Given the description of an element on the screen output the (x, y) to click on. 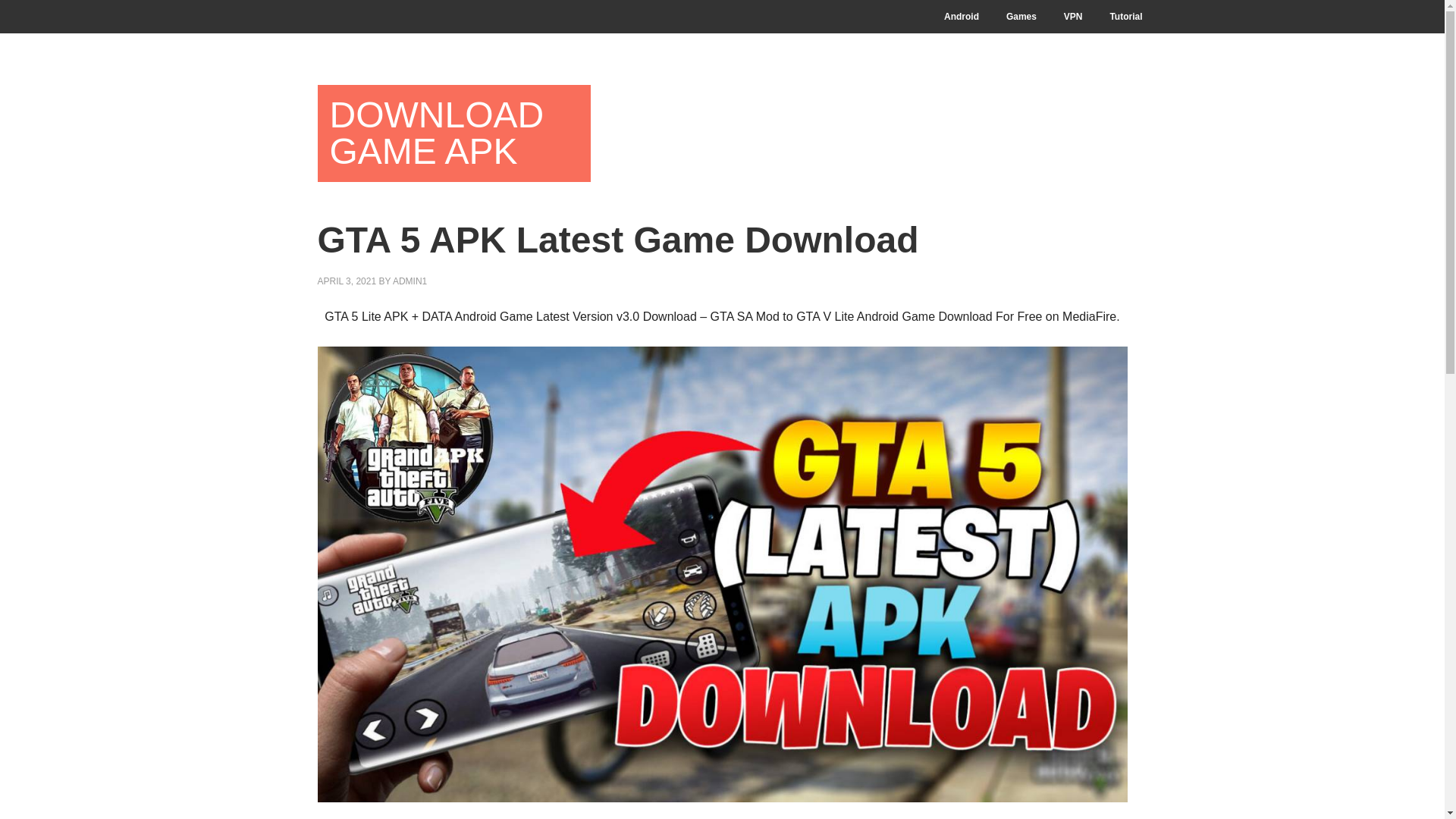
Tutorial (1125, 16)
ADMIN1 (409, 281)
DOWNLOAD GAME APK (453, 133)
Games (1021, 16)
VPN (1072, 16)
Android (961, 16)
